Given the description of an element on the screen output the (x, y) to click on. 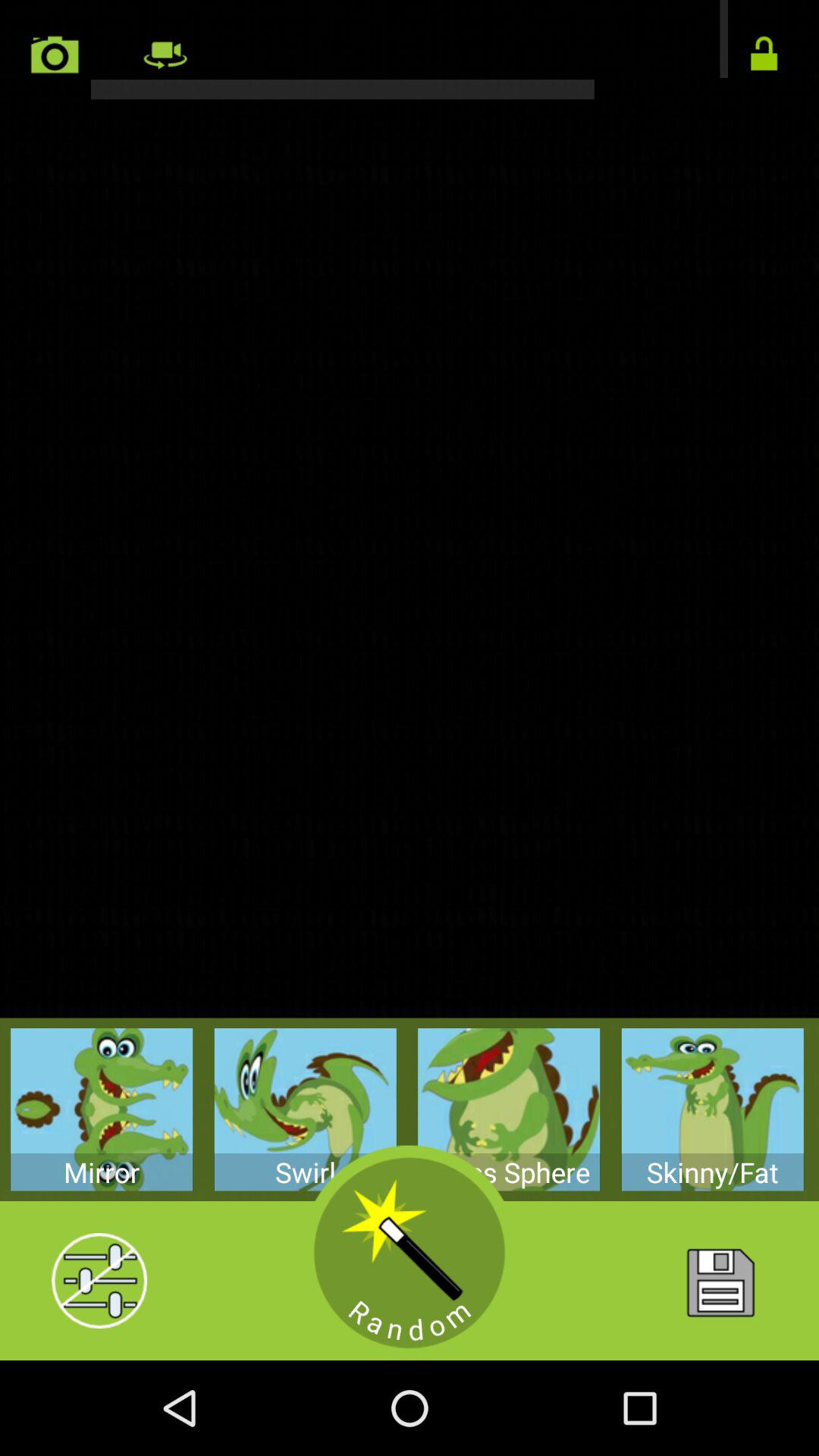
random button (409, 1252)
